Given the description of an element on the screen output the (x, y) to click on. 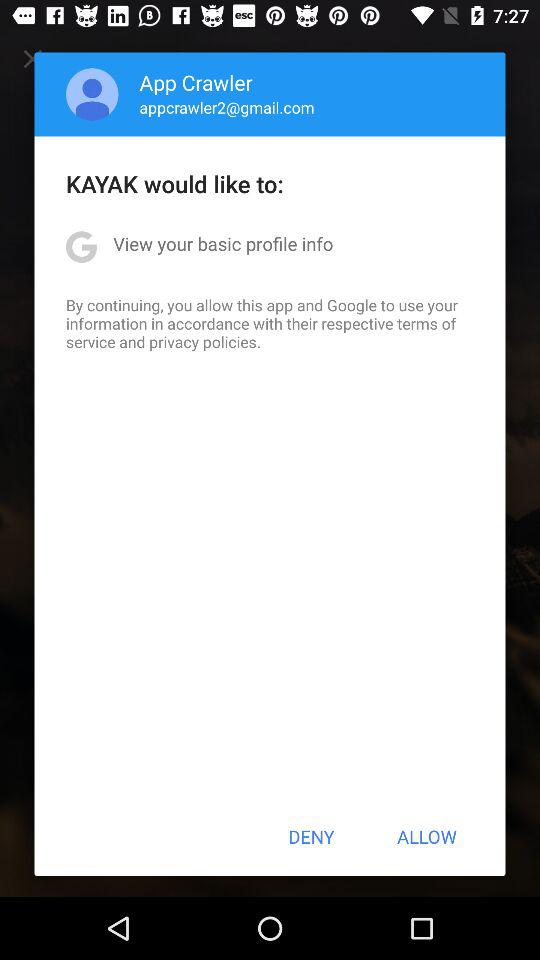
turn off the icon above kayak would like icon (226, 107)
